Given the description of an element on the screen output the (x, y) to click on. 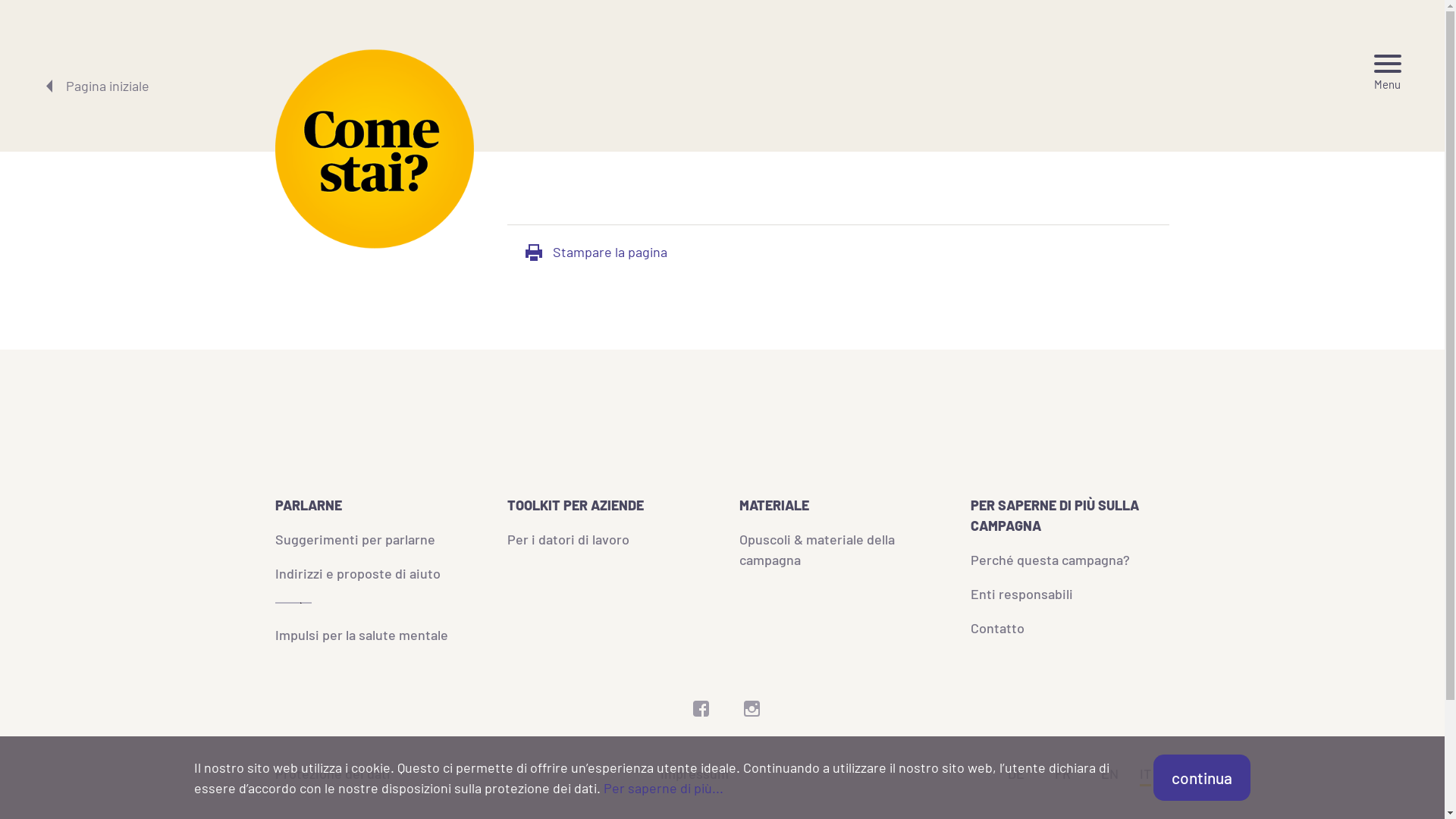
Opuscoli & materiale della campagna Element type: text (816, 548)
Instagram Element type: text (751, 710)
Contatto Element type: text (997, 626)
Per i datori di lavoro Element type: text (568, 538)
Suggerimenti per parlarne Element type: text (355, 538)
Stampare la pagina Element type: text (596, 251)
Pagina iniziale Element type: text (96, 85)
Protezione dei dati Element type: text (332, 773)
Impressum Element type: text (694, 773)
continua Element type: text (1201, 777)
Sprachnavigation. Momentane Sprache:
it
IT Element type: text (1145, 775)
Facebook Element type: text (700, 710)
Indirizzi e proposte di aiuto Element type: text (357, 572)
Menu Element type: text (1387, 72)
Enti responsabili Element type: text (1021, 593)
Impulsi per la salute mentale Element type: text (361, 634)
